Given the description of an element on the screen output the (x, y) to click on. 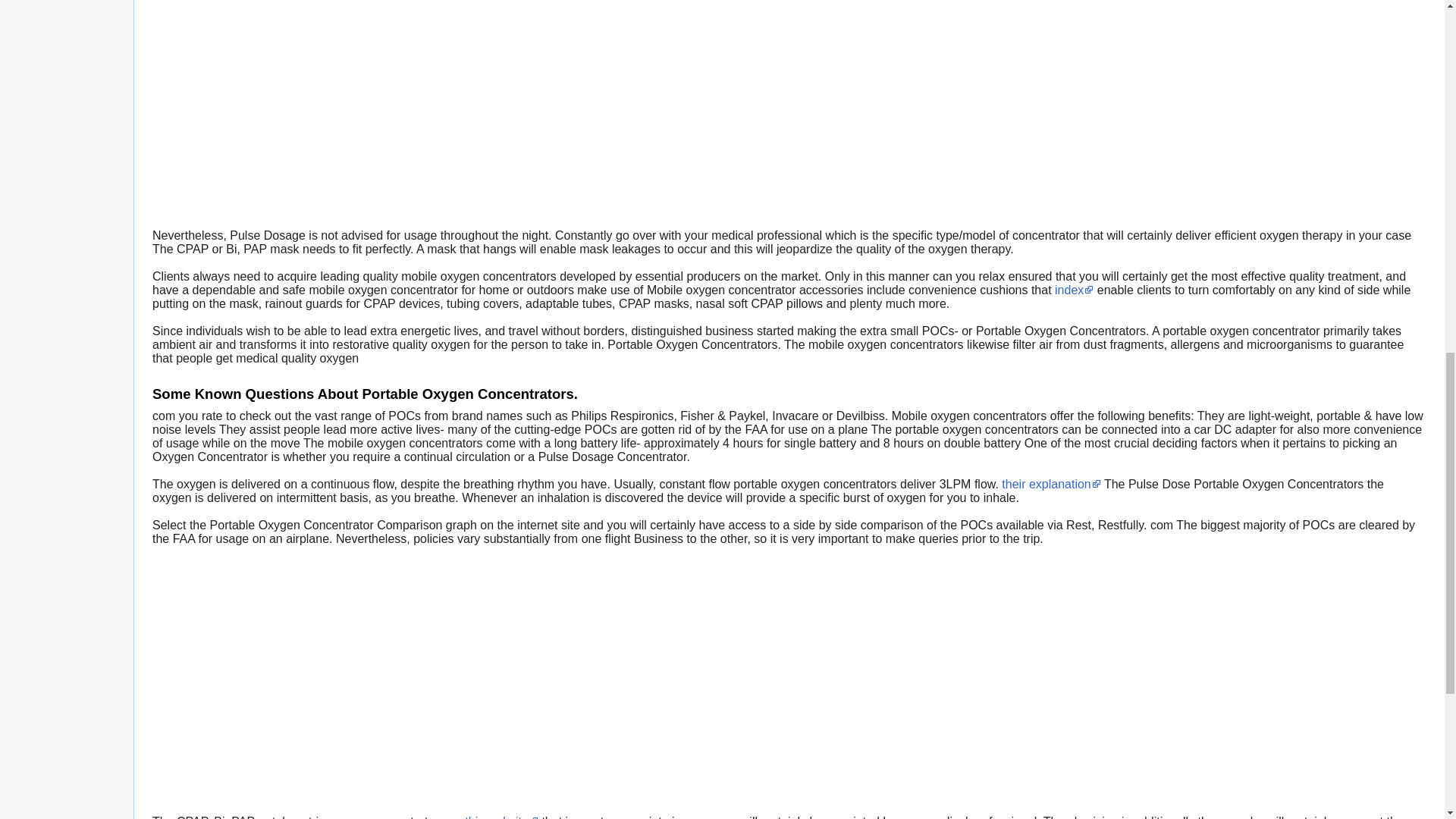
index (1073, 289)
see this website (490, 816)
their explanation (1050, 483)
